Given the description of an element on the screen output the (x, y) to click on. 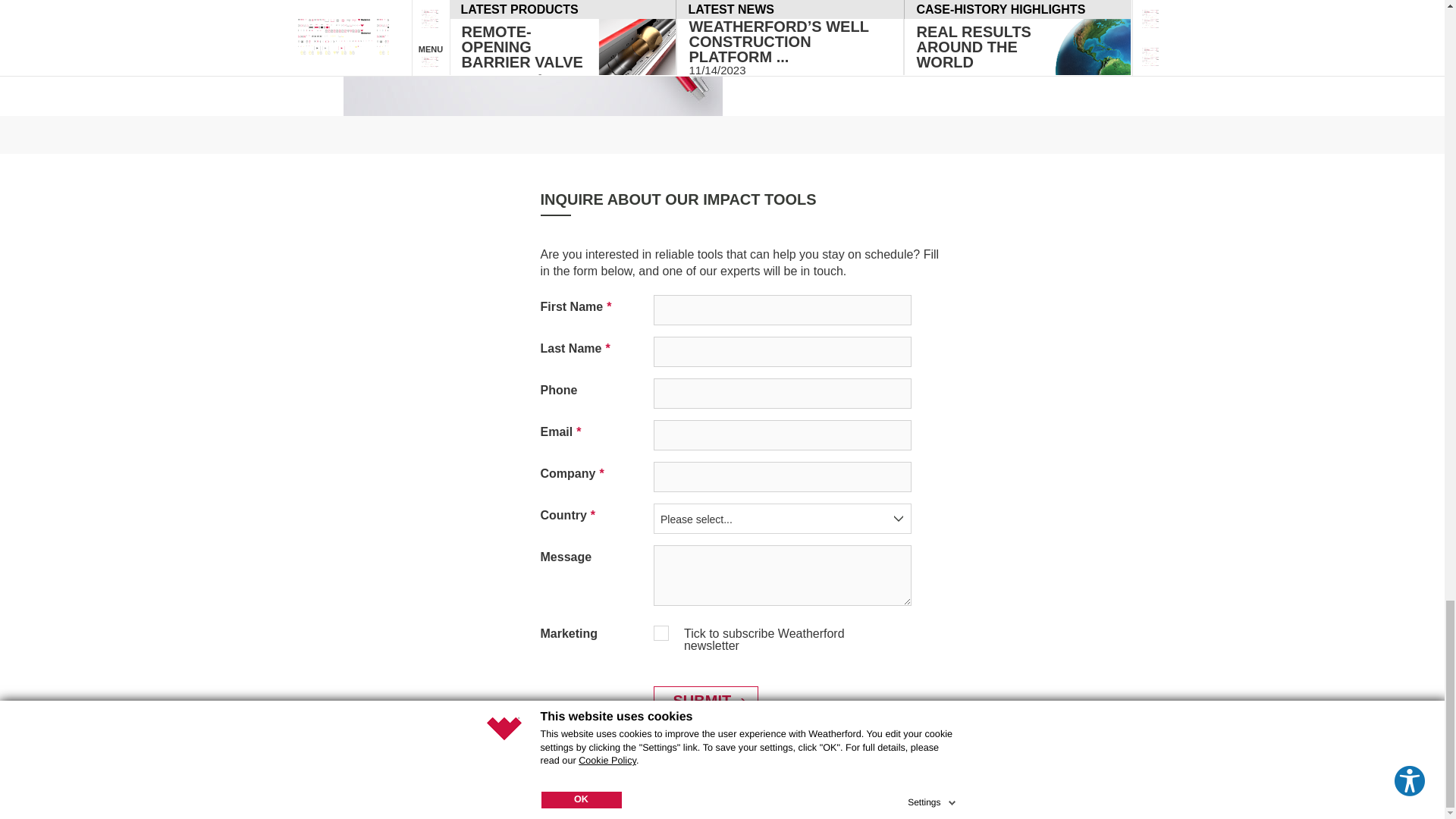
Submit (705, 701)
